Given the description of an element on the screen output the (x, y) to click on. 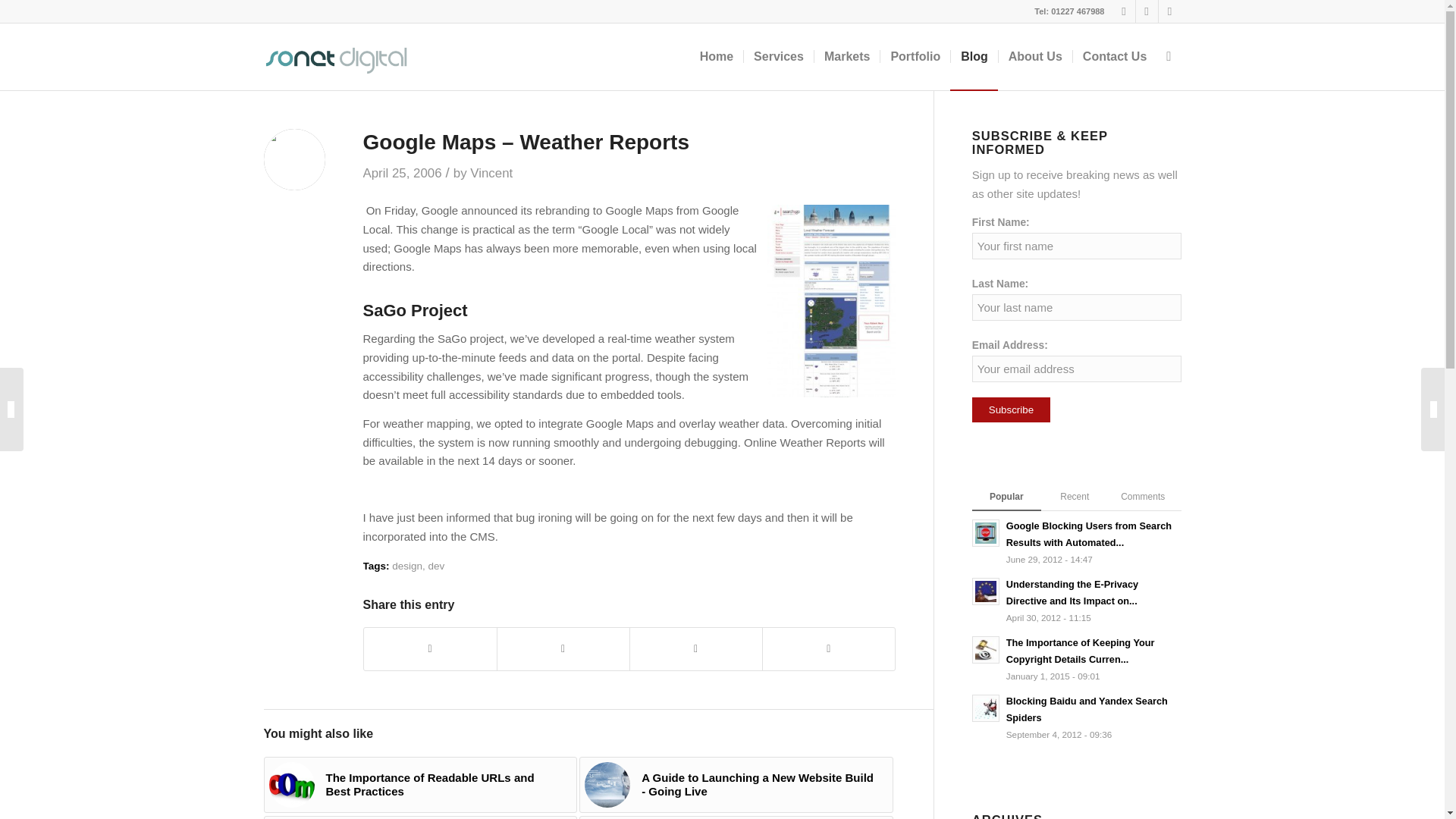
Services (777, 56)
The Importance of Readable URLs and Best Practices (420, 784)
Portfolio (914, 56)
Twitter (1124, 11)
Markets (846, 56)
Contact Us (1113, 56)
Posts by Vincent (491, 173)
A Guide to Launching a New Website Build - Going Live (736, 784)
Linkedin (1169, 11)
Subscribe (1010, 409)
About Us (1034, 56)
SEO Services (777, 56)
Facebook (1146, 11)
